Given the description of an element on the screen output the (x, y) to click on. 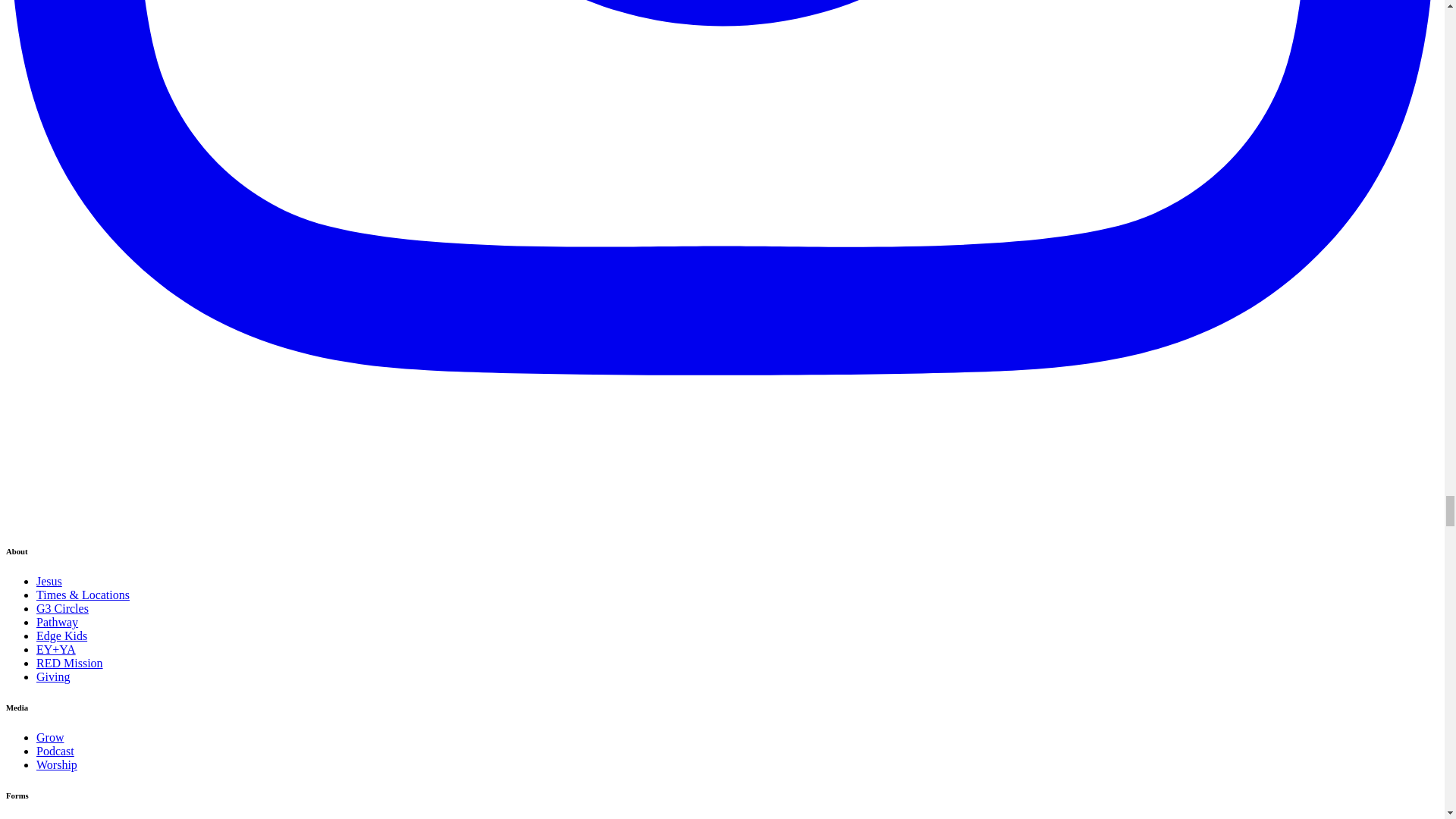
Giving (52, 676)
Grow (50, 737)
RED Mission (69, 662)
Podcast (55, 750)
Pathway (57, 621)
G3 Circles (62, 608)
Worship (56, 764)
Edge Kids (61, 635)
Jesus (49, 581)
